Given the description of an element on the screen output the (x, y) to click on. 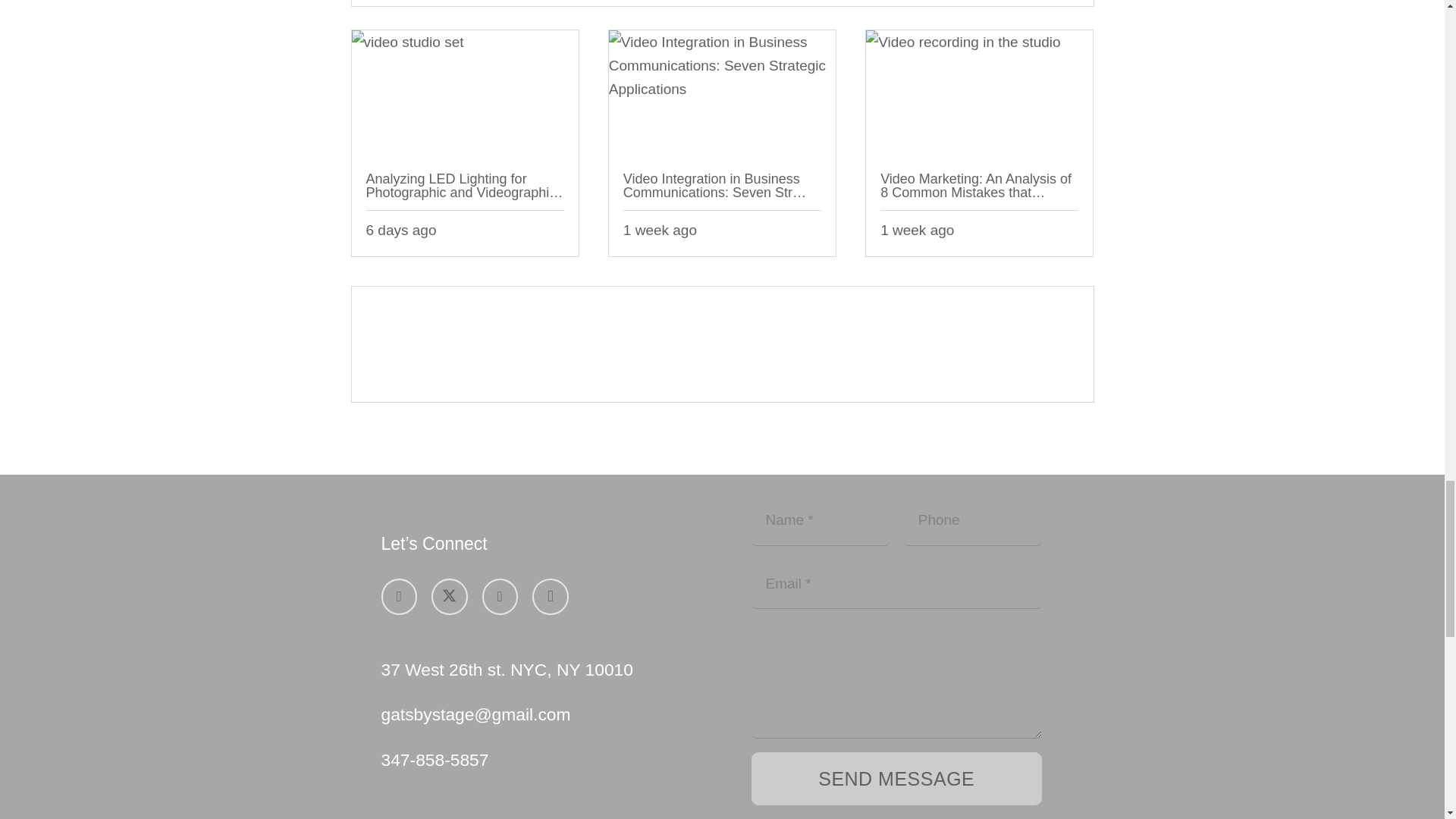
Instagram (550, 596)
SEND MESSAGE (896, 778)
37 West 26th st. NYC, NY 10010 (505, 669)
347-858-5857 (433, 759)
Pinterest (499, 596)
Facebook (398, 596)
Twitter (448, 596)
